Given the description of an element on the screen output the (x, y) to click on. 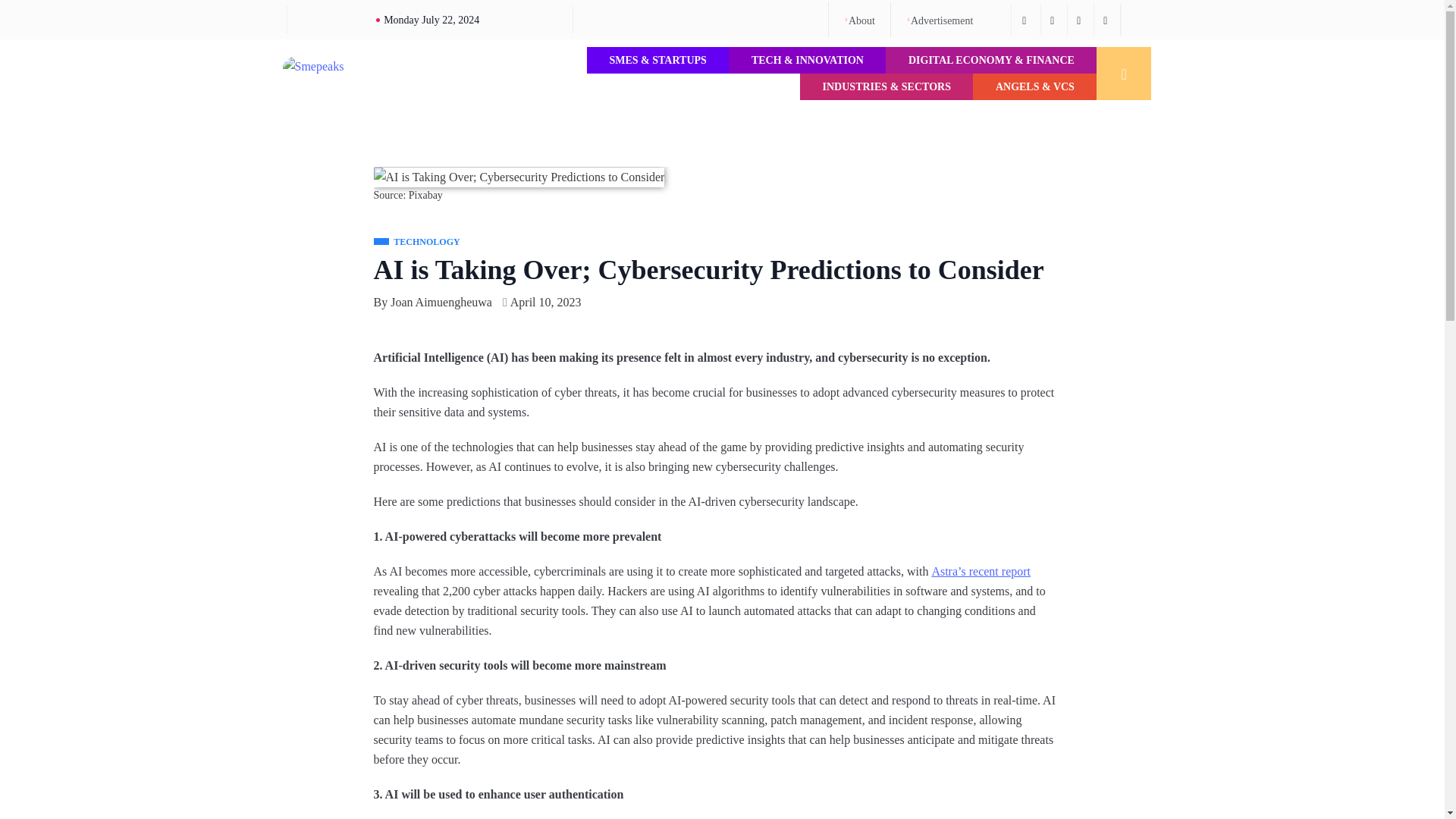
TECHNOLOGY (416, 242)
Joan Aimuengheuwa (441, 302)
Advertisement (938, 20)
About (859, 20)
